Given the description of an element on the screen output the (x, y) to click on. 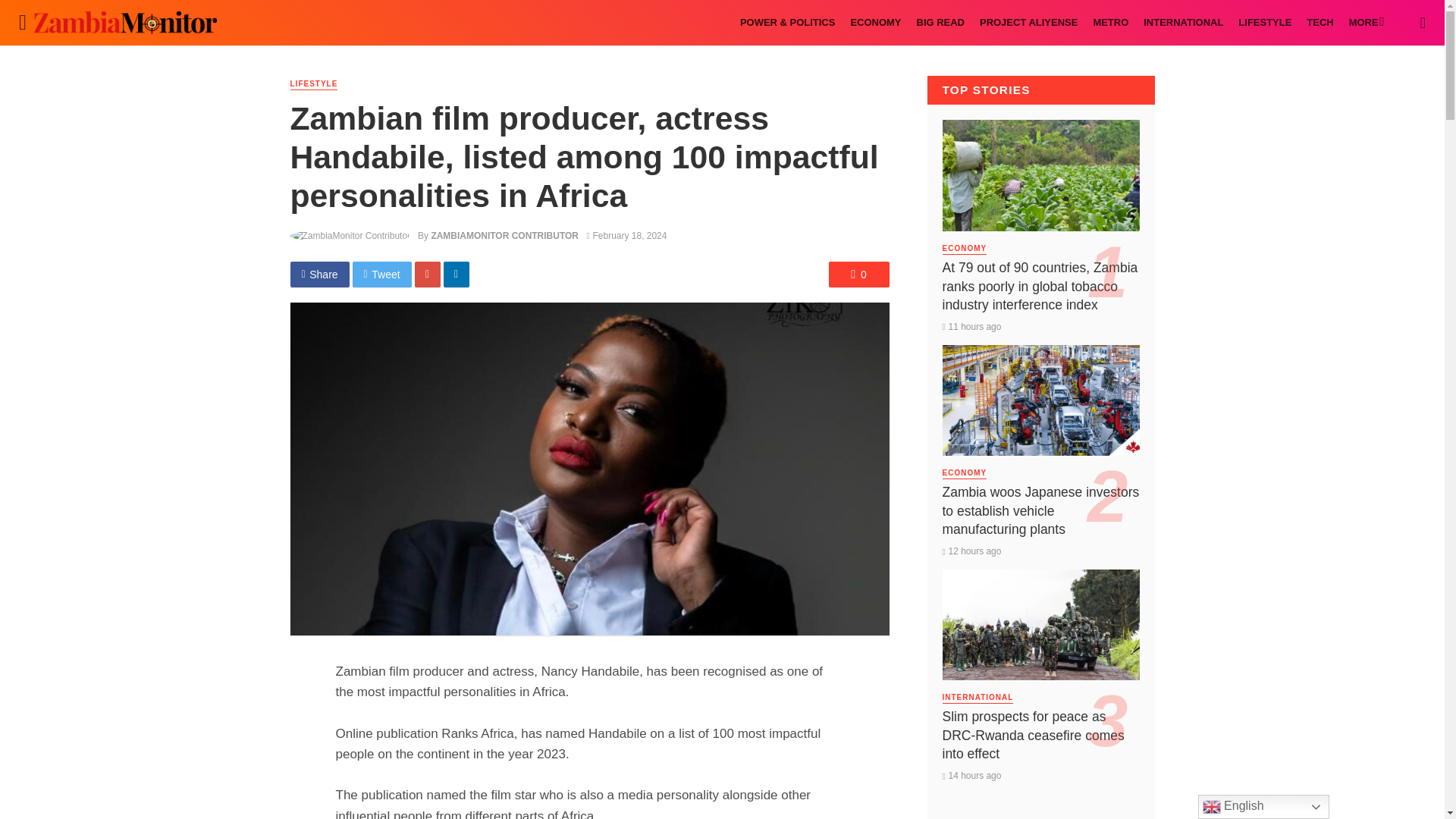
LIFESTYLE (1264, 22)
INTERNATIONAL (1182, 22)
PROJECT ALIYENSE (1028, 22)
ECONOMY (875, 22)
METRO (1109, 22)
BIG READ (939, 22)
TECH (1319, 22)
